Given the description of an element on the screen output the (x, y) to click on. 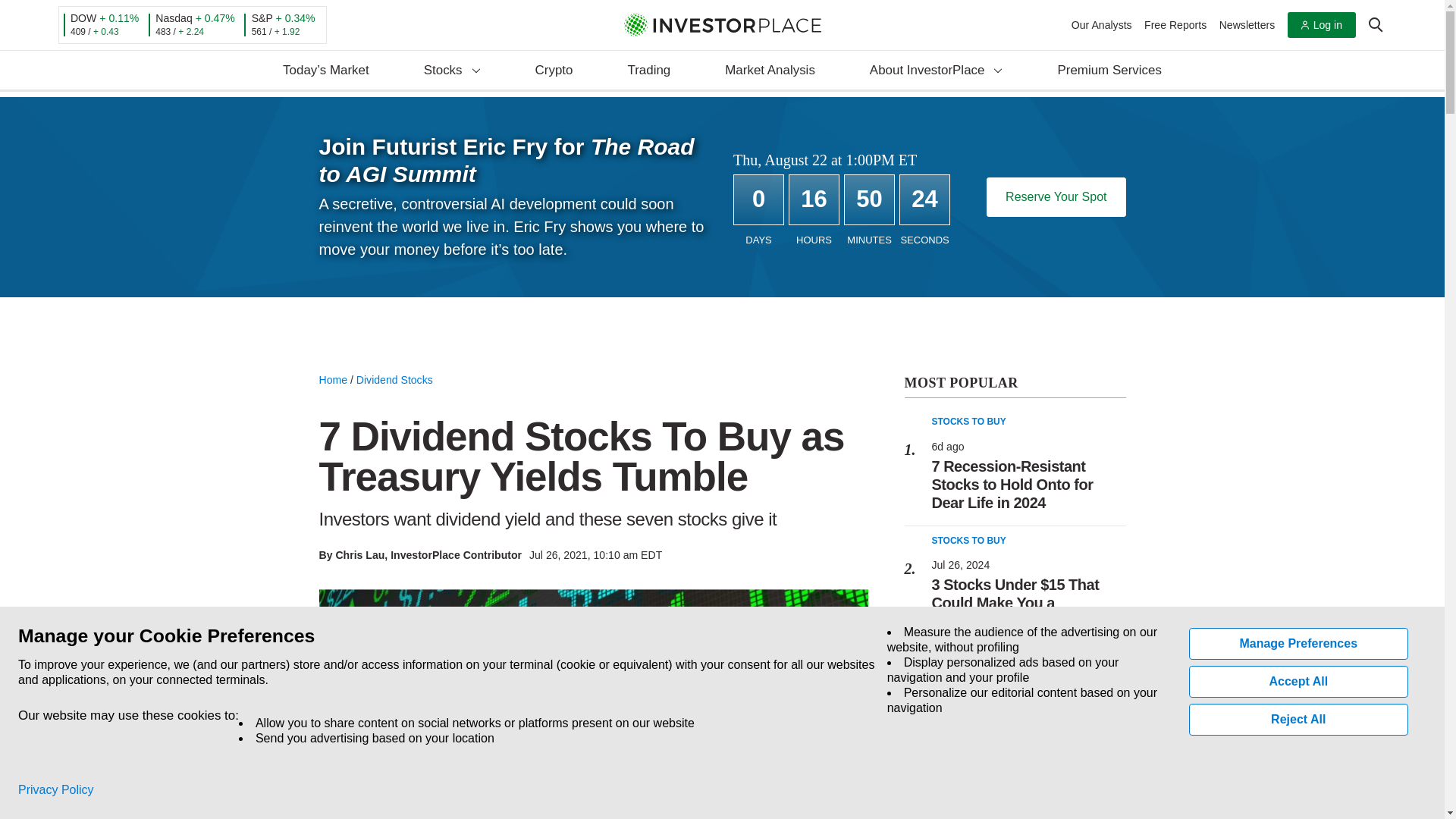
Log in (1321, 25)
Manage Preferences (1299, 644)
DOW (82, 18)
Nasdaq (173, 18)
Privacy Policy (55, 789)
Accept All (1299, 681)
View Most Read Content (1014, 384)
Our Analysts (1101, 24)
Stocks (452, 70)
Free Reports (1175, 24)
